Given the description of an element on the screen output the (x, y) to click on. 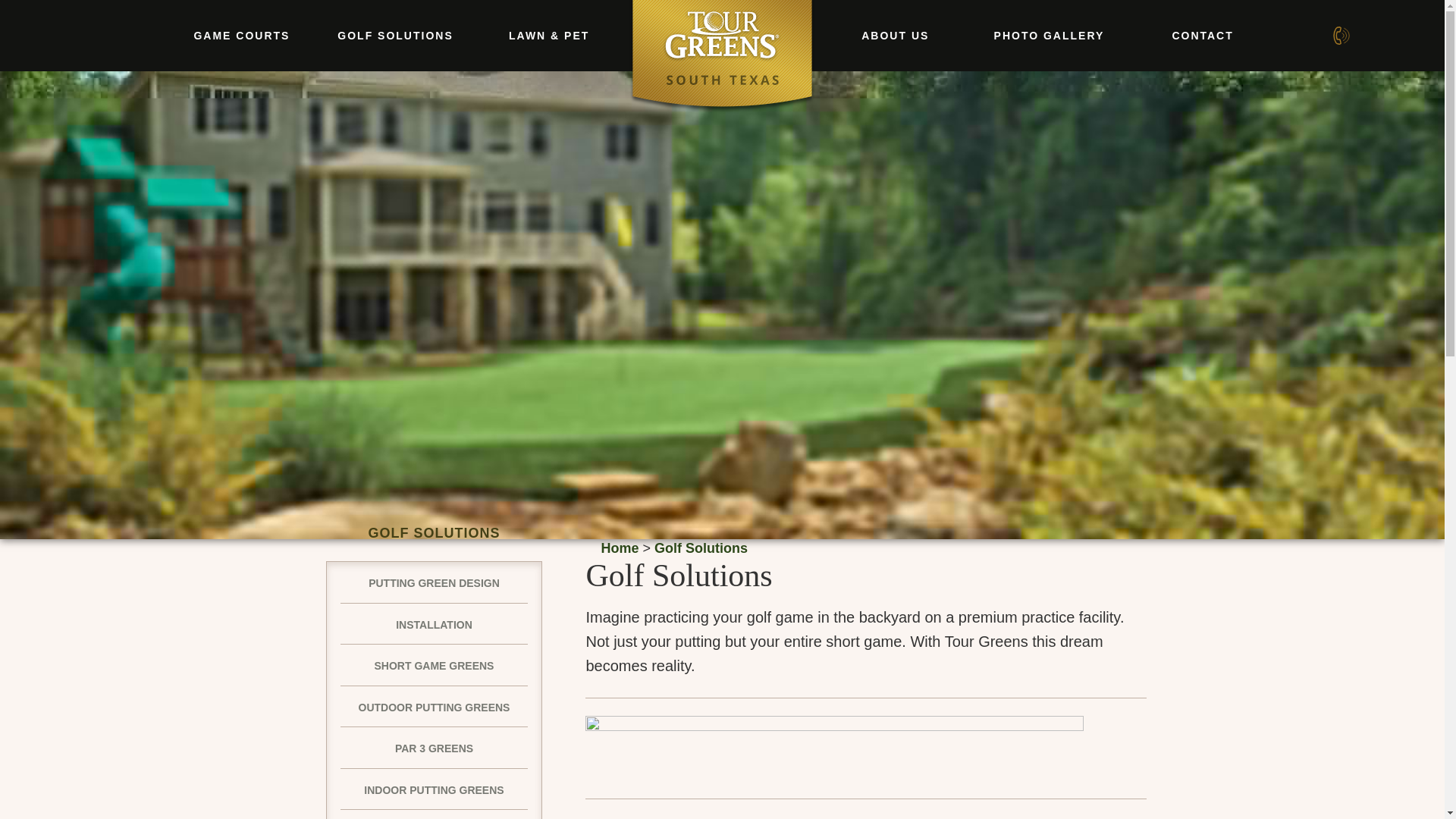
ABOUT US (894, 35)
GOLF SOLUTIONS (395, 35)
Home (619, 548)
CONTACT (1202, 35)
Golf Solutions (700, 548)
PHOTO GALLERY (1049, 35)
GAME COURTS (241, 35)
